Given the description of an element on the screen output the (x, y) to click on. 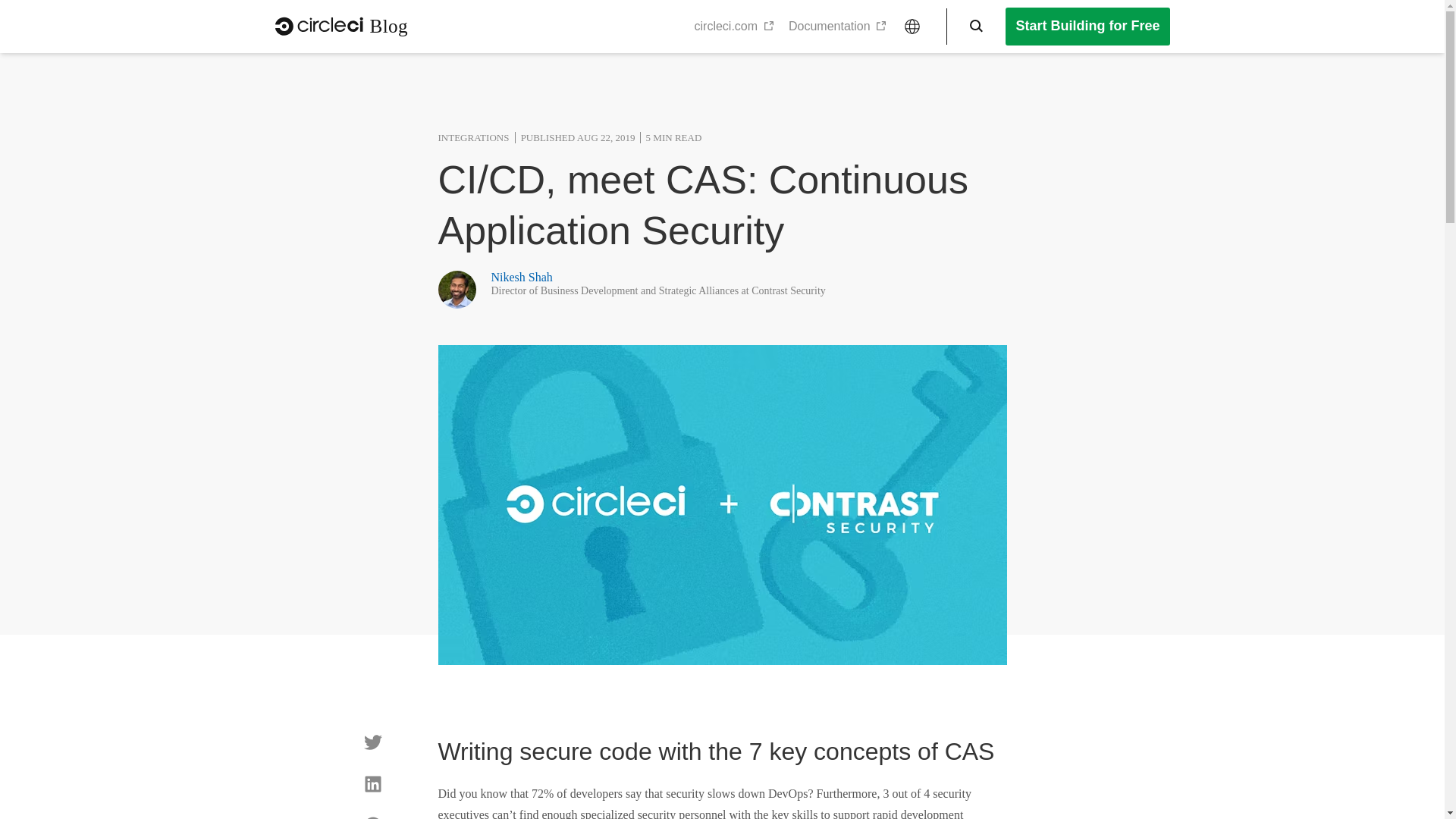
Nikesh Shah (522, 277)
Share on Facebook (373, 817)
Documentation   (837, 26)
Start Building for Free (1087, 26)
Share on Twitter (373, 742)
Share on Twitter (373, 742)
Share on LinkedIn (373, 783)
Blog (341, 26)
Share on LinkedIn (373, 783)
Search CircleCI blog (970, 26)
circleci.com   (733, 26)
Share on Facebook (373, 817)
